Given the description of an element on the screen output the (x, y) to click on. 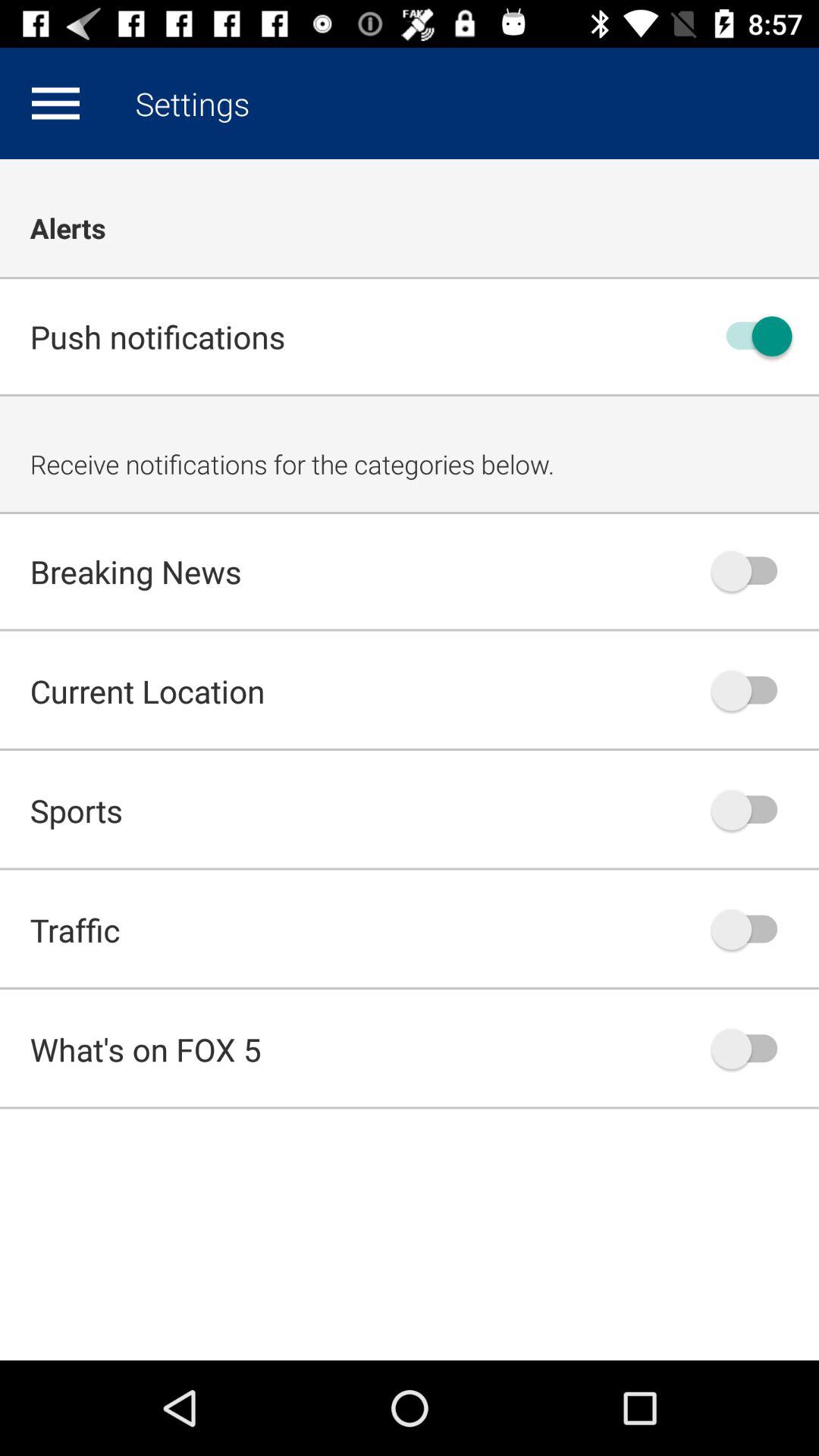
switch alert (751, 571)
